Given the description of an element on the screen output the (x, y) to click on. 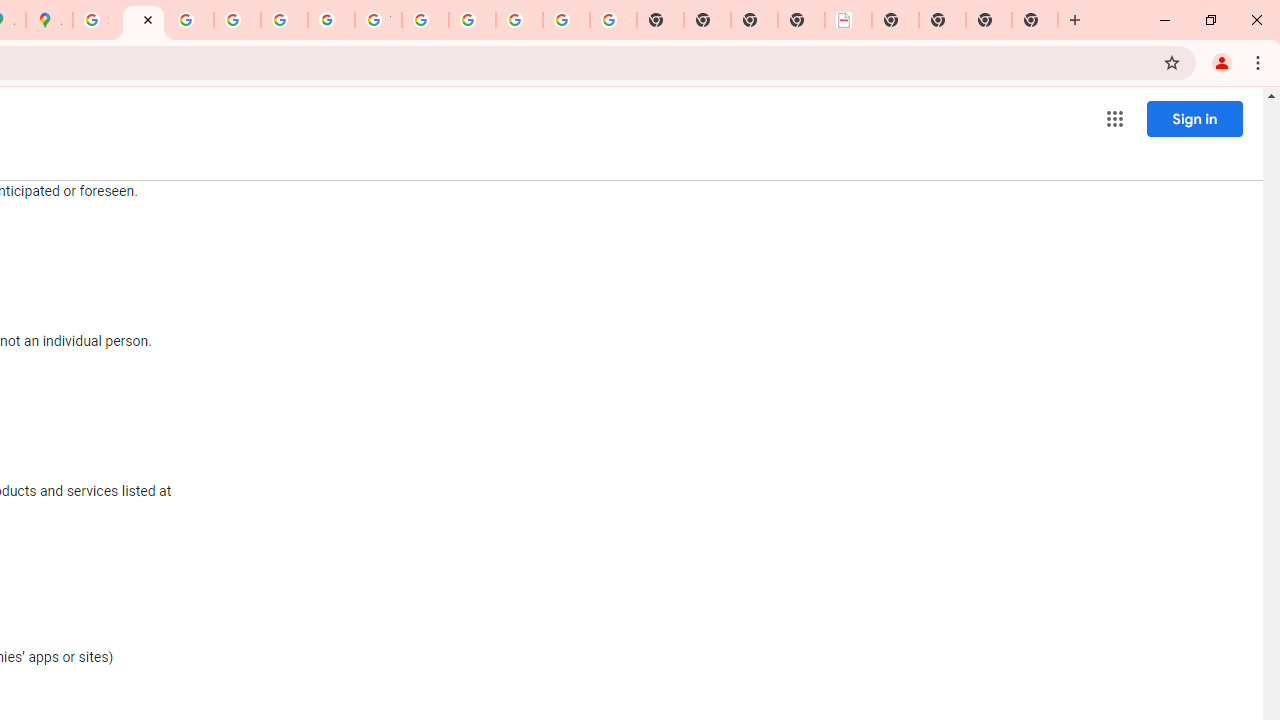
New Tab (895, 20)
Privacy Help Center - Policies Help (237, 20)
Privacy Help Center - Policies Help (189, 20)
